Given the description of an element on the screen output the (x, y) to click on. 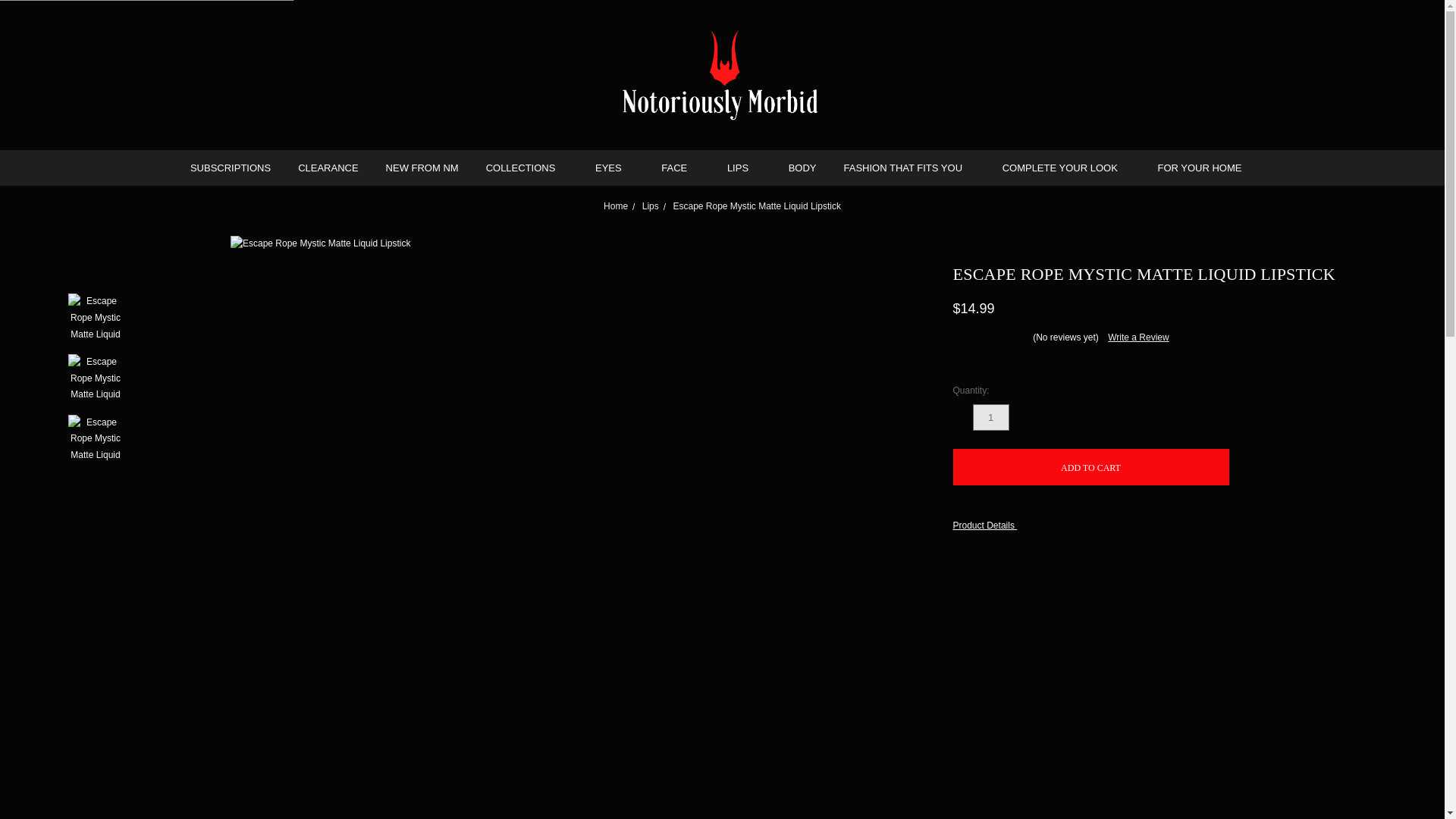
Notoriously Morbid (722, 74)
COLLECTIONS (525, 167)
NEW FROM NM (421, 167)
Escape Rope Mystic Matte Liquid Lipstick  (95, 318)
EYES (613, 167)
SUBSCRIPTIONS (229, 167)
Add to Cart (1090, 466)
1 (990, 417)
Escape Rope Mystic Matte Liquid Lipstick  (95, 439)
